Given the description of an element on the screen output the (x, y) to click on. 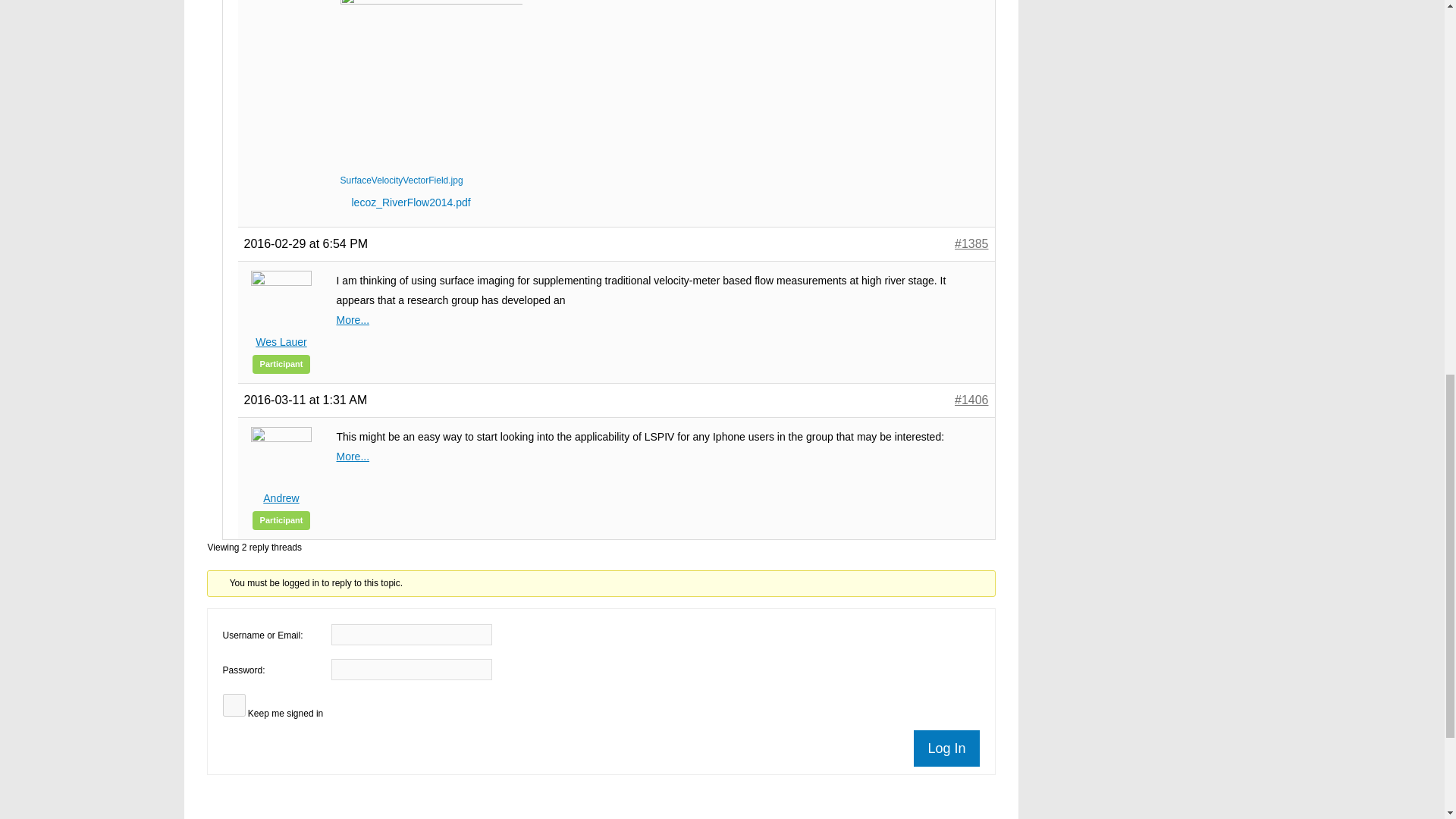
forever (234, 704)
SurfaceVelocityVectorField.jpg (430, 85)
